Given the description of an element on the screen output the (x, y) to click on. 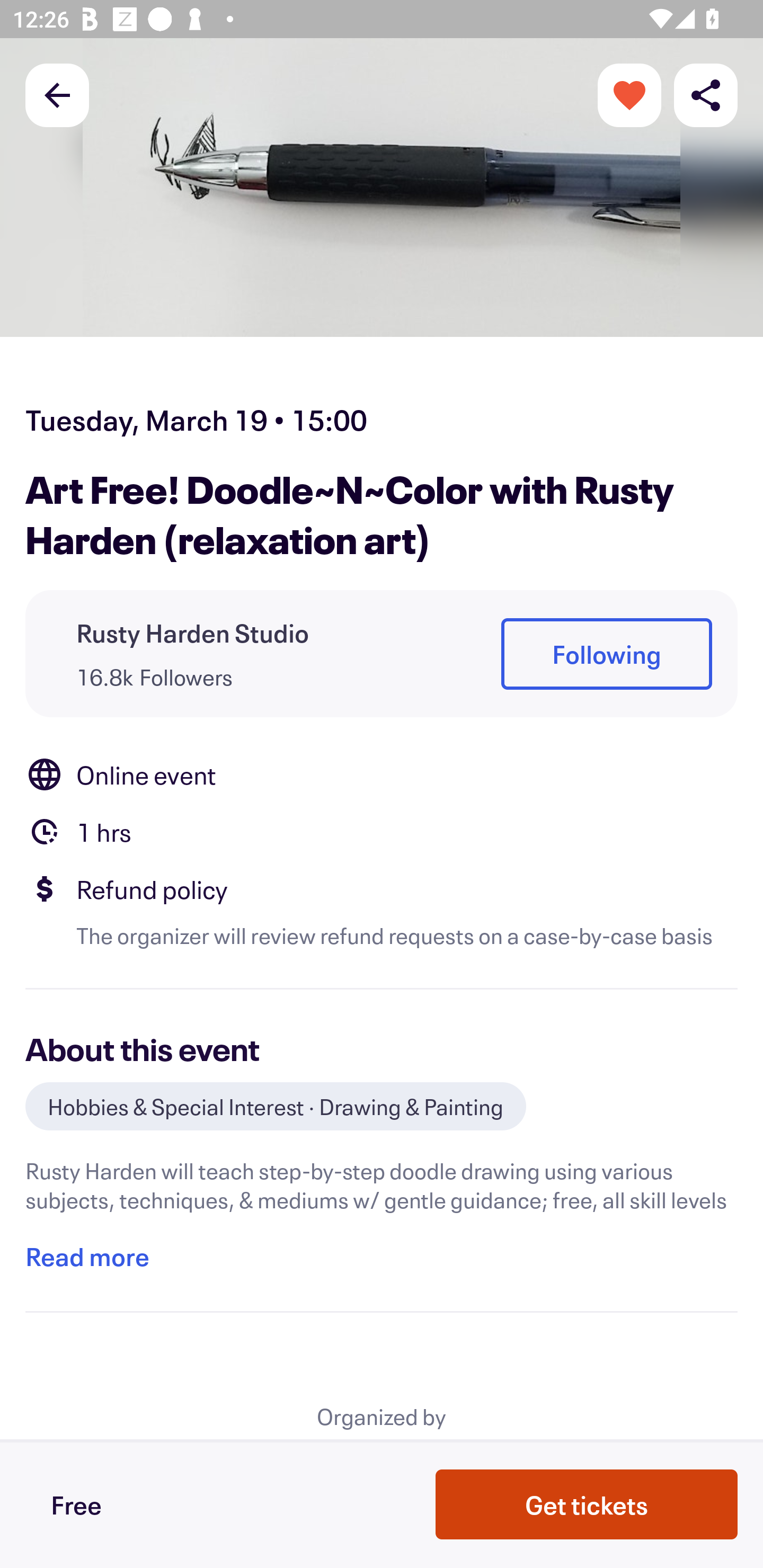
Back (57, 94)
More (629, 94)
Share (705, 94)
Rusty Harden Studio (192, 632)
Following (606, 654)
Location Online event (381, 774)
Read more (87, 1256)
Get tickets (586, 1504)
